Given the description of an element on the screen output the (x, y) to click on. 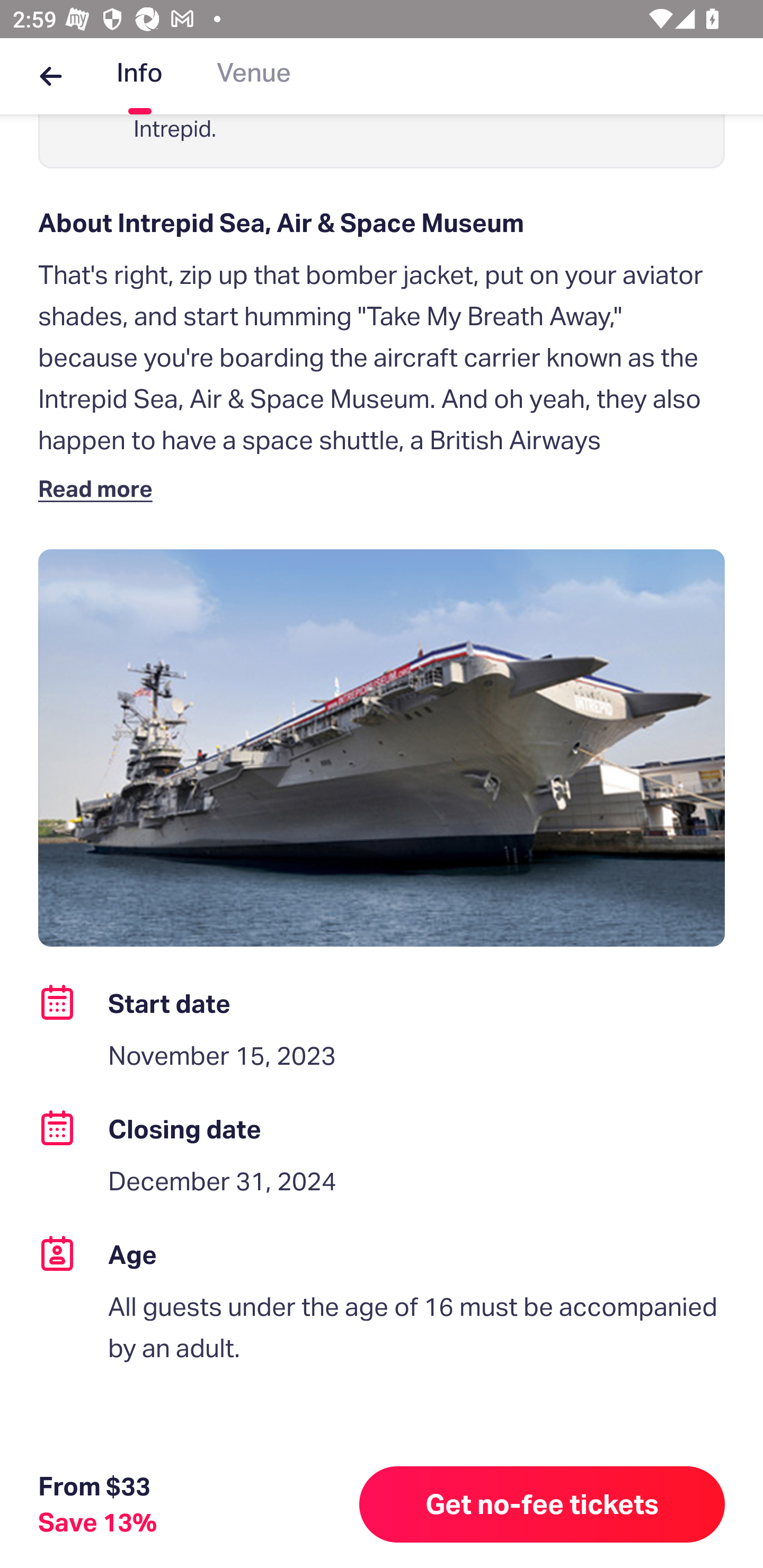
Venue (253, 75)
About Intrepid Sea, Air & Space Museum (381, 222)
Read more (99, 488)
Get no-fee tickets (541, 1504)
